Given the description of an element on the screen output the (x, y) to click on. 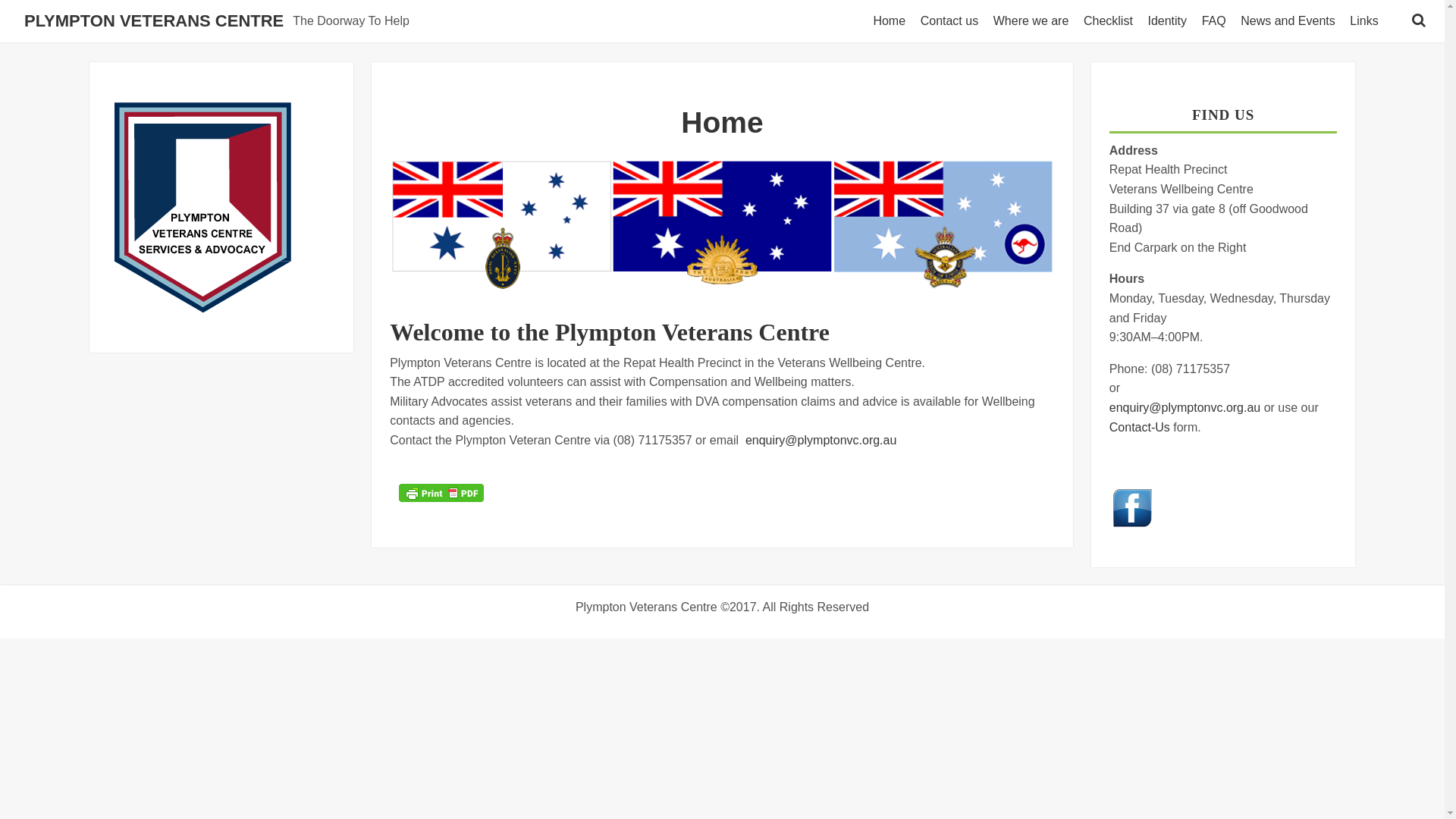
Home Element type: text (721, 122)
Printer Friendly, PDF & Email Element type: hover (440, 492)
Contact us Element type: text (952, 21)
Identity Element type: text (1169, 21)
enquiry@plymptonvc.org.au Element type: text (820, 439)
PLYMPTON VETERANS CENTRE Element type: text (153, 20)
Home Element type: text (891, 21)
Search Element type: text (24, 13)
Where we are Element type: text (1034, 21)
News and Events Element type: text (1290, 21)
enquiry@plymptonvc.org.au Element type: text (1184, 407)
Checklist Element type: text (1111, 21)
Links Element type: text (1366, 21)
FAQ Element type: text (1216, 21)
Contact-Us Element type: text (1139, 426)
